Given the description of an element on the screen output the (x, y) to click on. 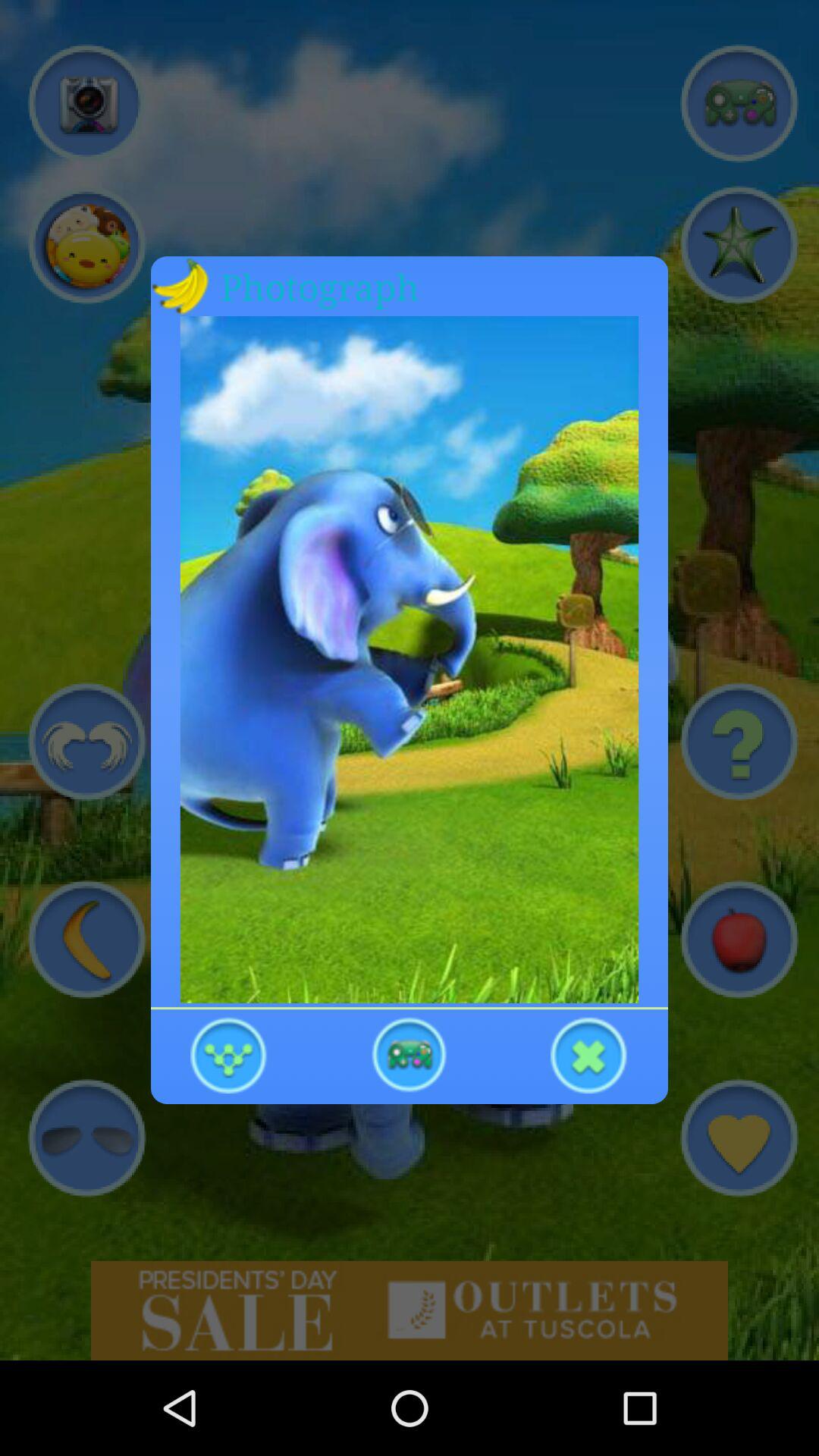
exit out (589, 1054)
